Given the description of an element on the screen output the (x, y) to click on. 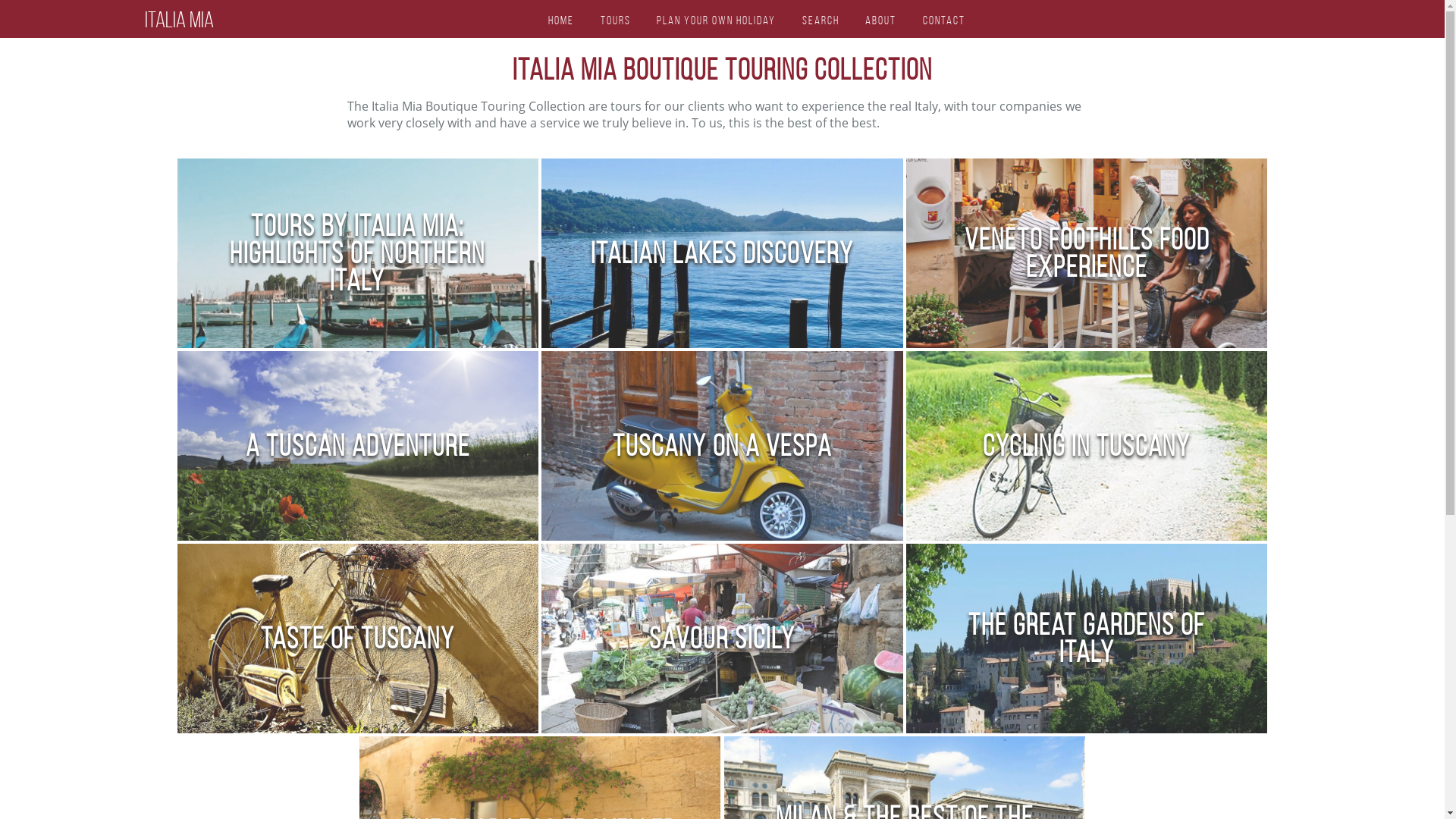
Cycling in Tuscany Element type: text (1086, 445)
Veneto Foothills Food Experience Element type: text (1086, 253)
Italian Lakes Discovery Element type: text (721, 253)
Savour Sicily Element type: text (721, 638)
Contact Element type: text (943, 19)
Tours Element type: text (615, 19)
Plan Your Own Holiday Element type: text (715, 19)
Search Element type: text (820, 19)
Taste of Tuscany Element type: text (357, 638)
Home Element type: text (561, 19)
Italia Mia Element type: text (178, 19)
Tuscany on a Vespa Element type: text (721, 445)
The Great Gardens of Italy Element type: text (1086, 638)
About Element type: text (880, 19)
A Tuscan Adventure Element type: text (357, 445)
Tours By Italia Mia: Highlights of Northern Italy Element type: text (357, 253)
